Given the description of an element on the screen output the (x, y) to click on. 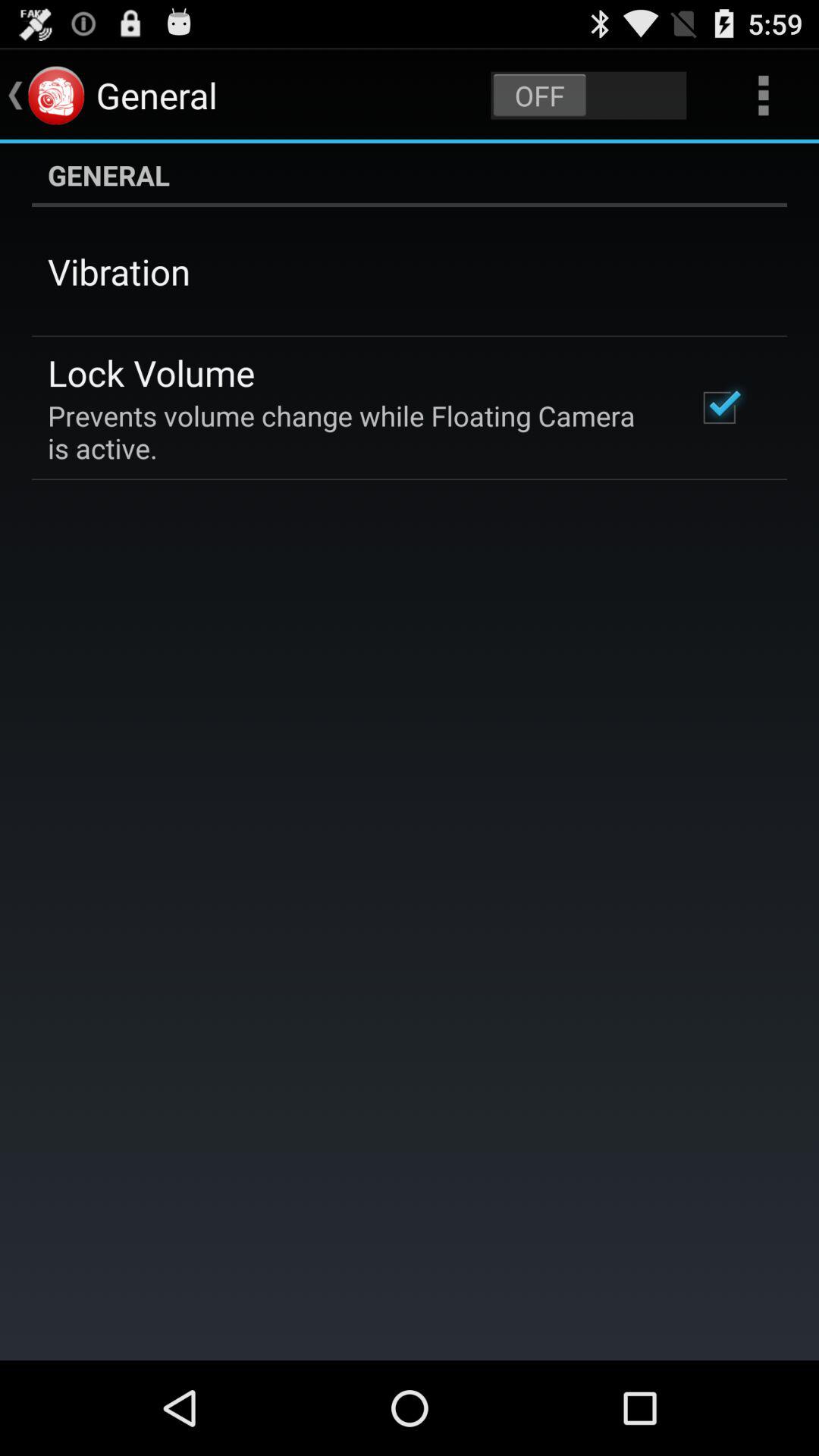
launch item above the prevents volume change icon (150, 372)
